Given the description of an element on the screen output the (x, y) to click on. 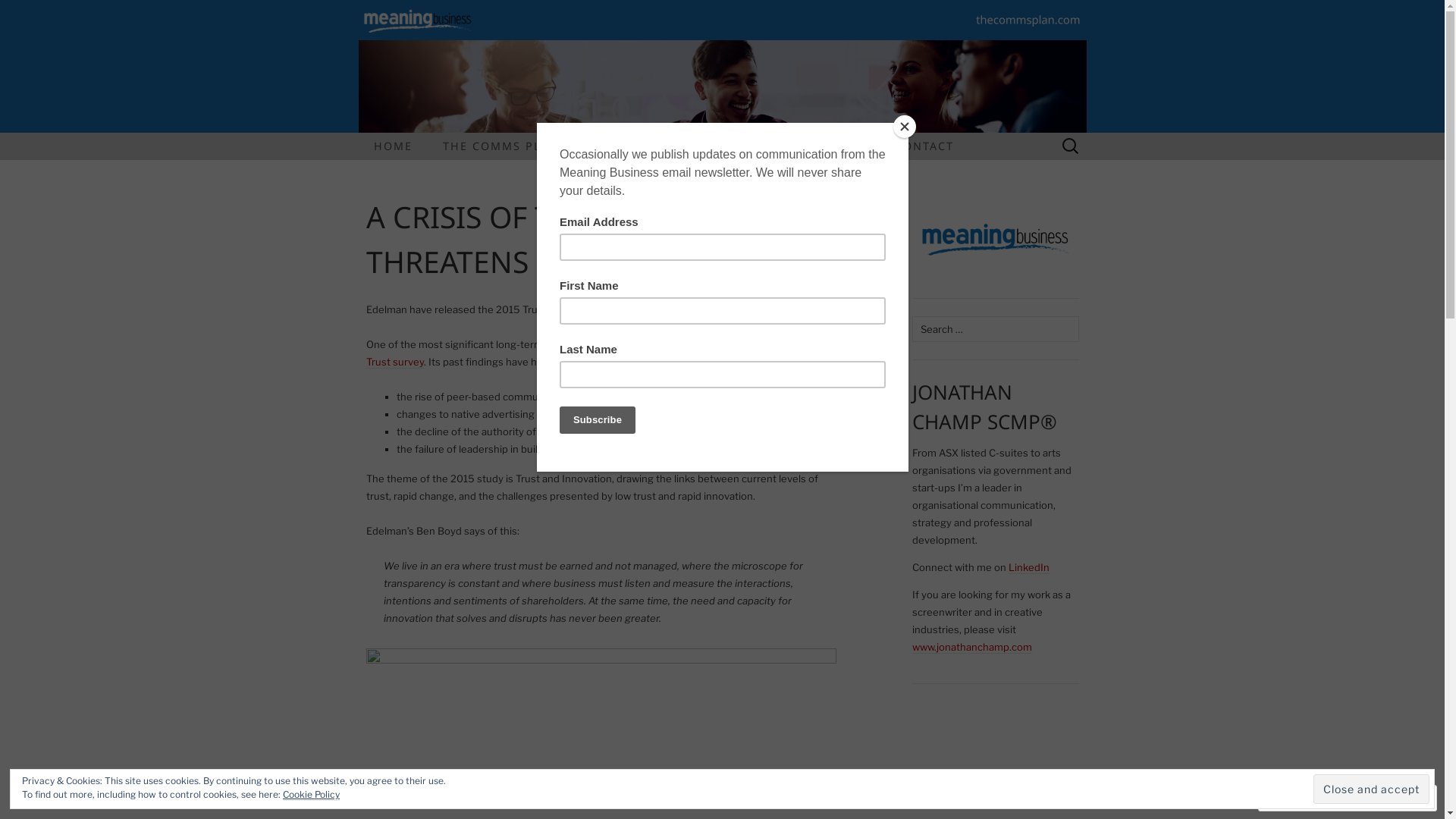
CONTACT Element type: text (924, 146)
Follow Element type: text (1374, 797)
Search Element type: text (39, 12)
annual Edelman Trust survey Element type: text (593, 353)
Close and accept Element type: text (1371, 788)
RESOURCES Element type: text (827, 146)
www.jonathanchamp.com Element type: text (971, 646)
LinkedIn Element type: text (1028, 567)
Search Element type: text (15, 12)
HOME Element type: text (391, 146)
Cookie Policy Element type: text (310, 794)
THE COMMS PLAN Element type: text (500, 146)
SERVICES AND SOLUTIONS Element type: text (673, 146)
Comment Element type: text (1299, 797)
